Given the description of an element on the screen output the (x, y) to click on. 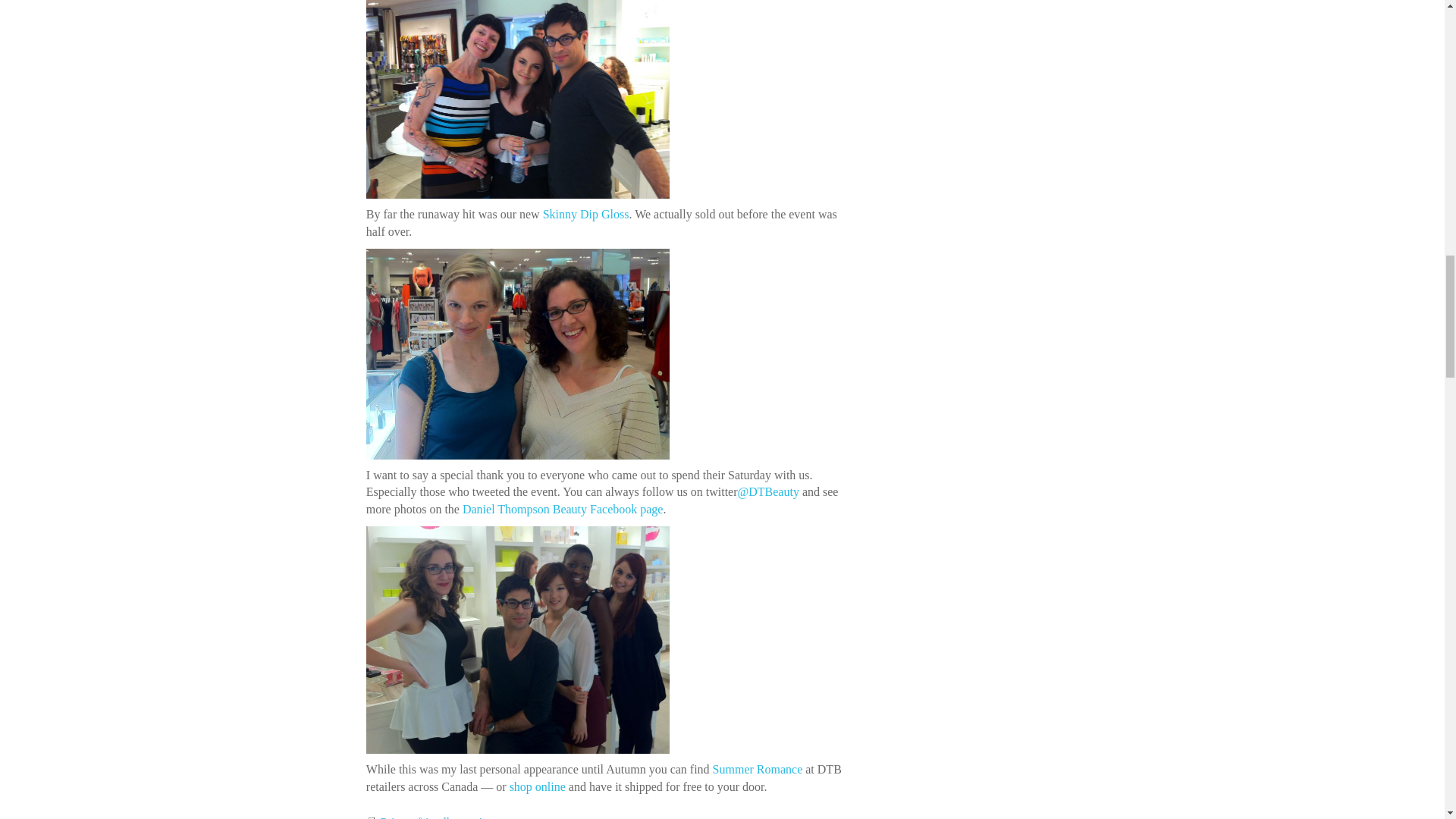
Display a printer-friendly version of this page. (430, 817)
